Given the description of an element on the screen output the (x, y) to click on. 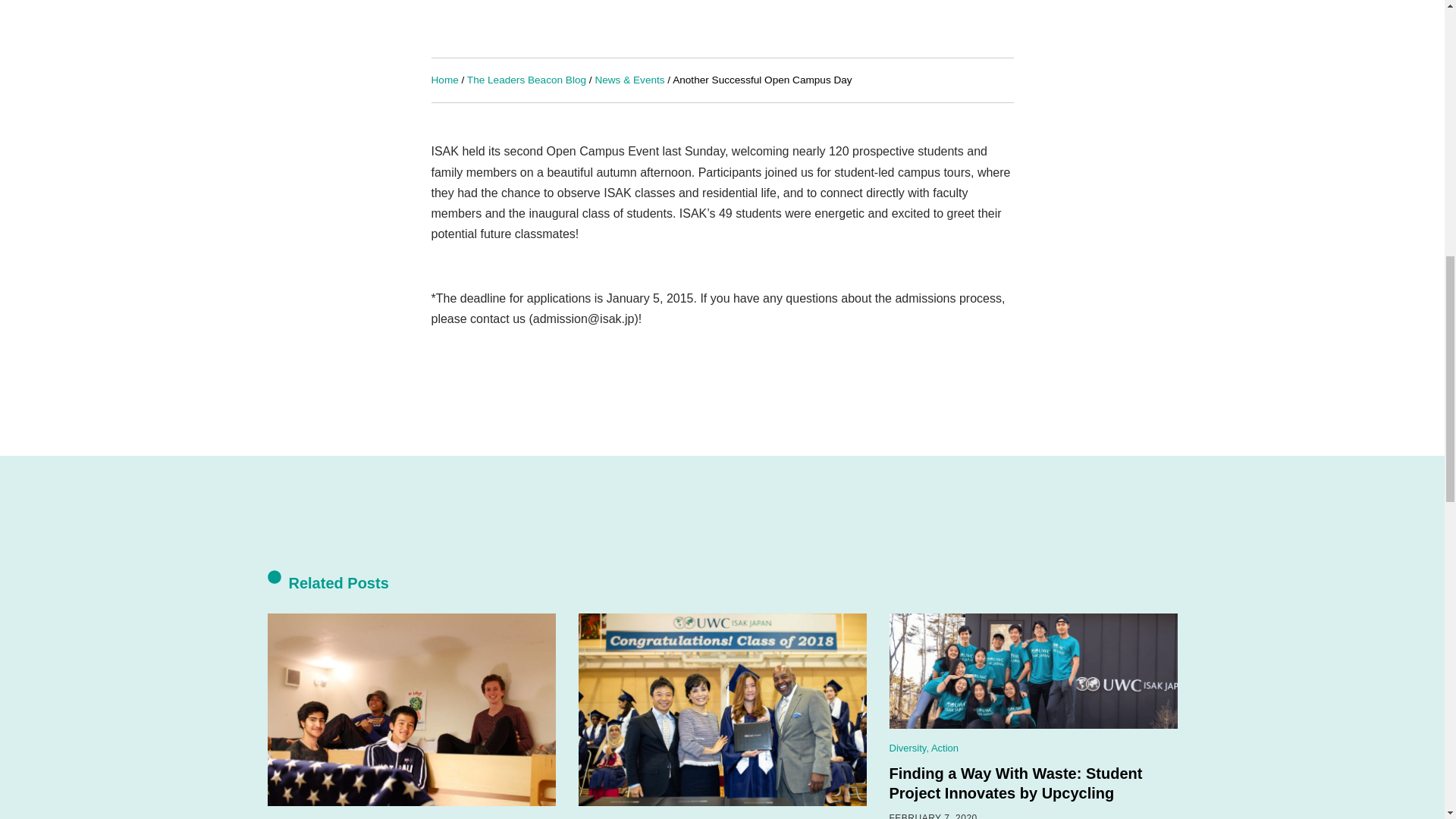
Action (944, 747)
Diversity (907, 747)
The Leaders Beacon Blog (526, 79)
Home (444, 79)
